Given the description of an element on the screen output the (x, y) to click on. 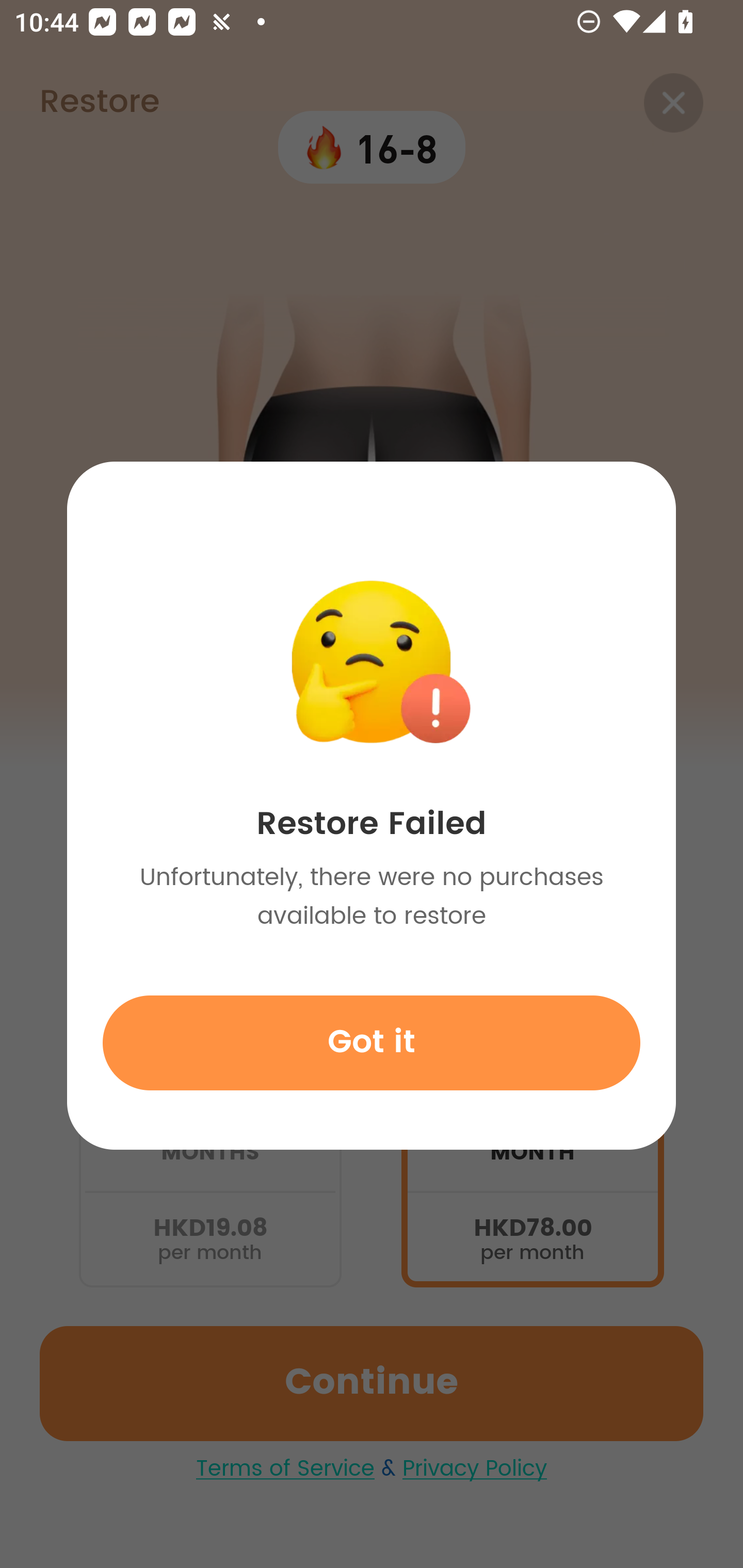
Got it (371, 1042)
